Given the description of an element on the screen output the (x, y) to click on. 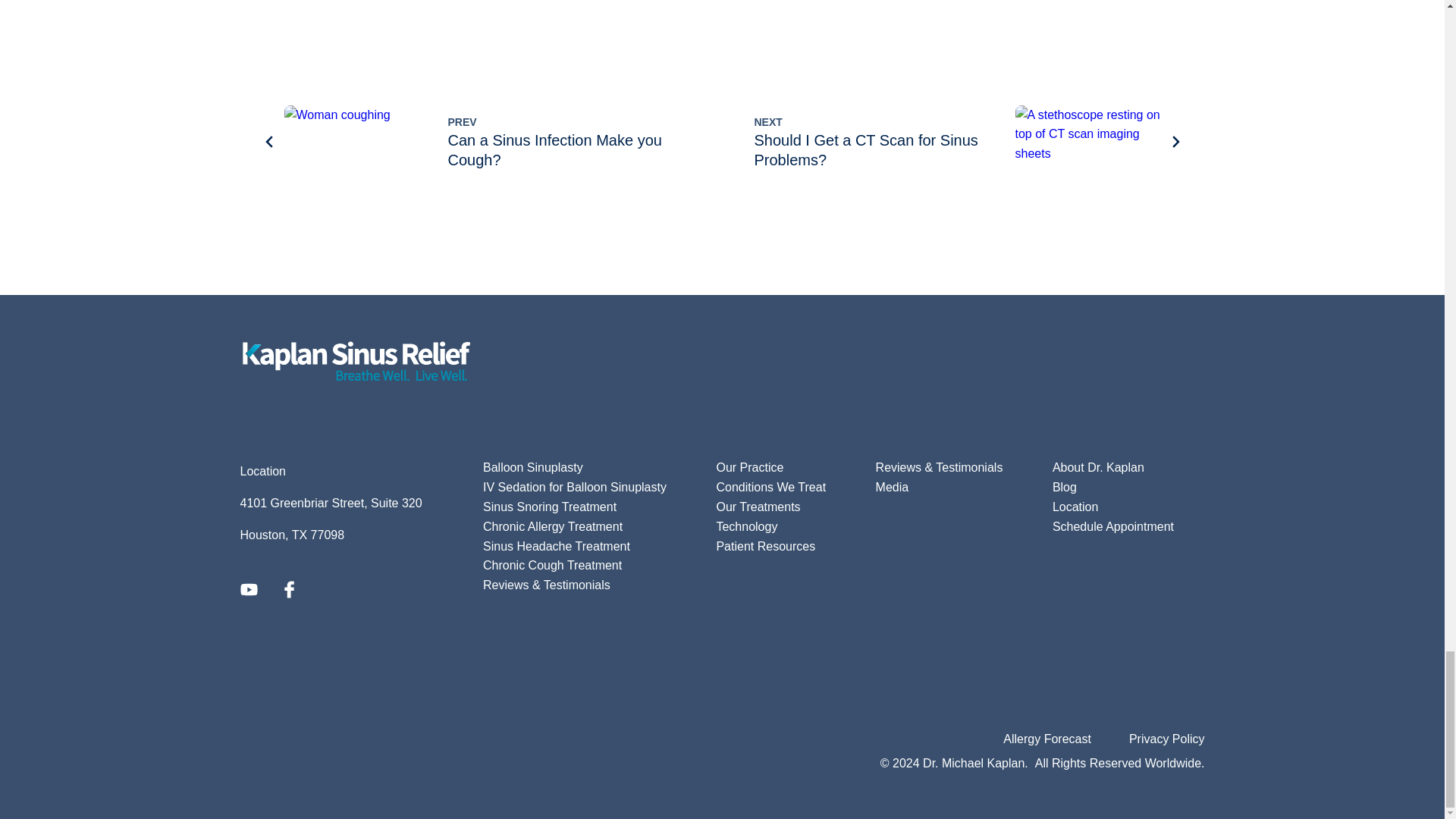
Balloon Sinuplasty (476, 141)
Sinus Snoring Treatment (533, 467)
IV Sedation for Balloon Sinuplasty (549, 506)
